Given the description of an element on the screen output the (x, y) to click on. 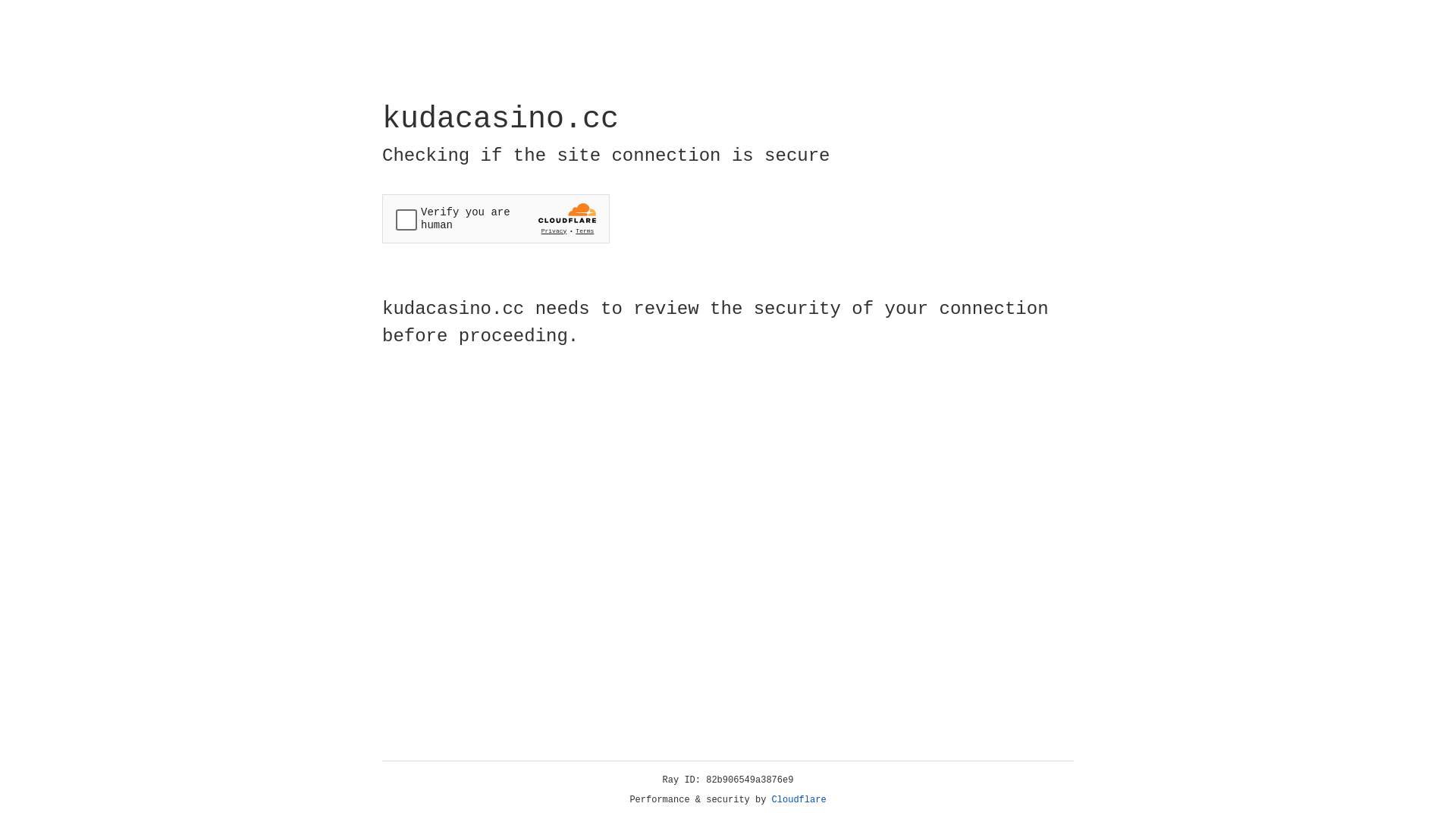
Widget containing a Cloudflare security challenge Element type: hover (495, 218)
Cloudflare Element type: text (798, 799)
